Given the description of an element on the screen output the (x, y) to click on. 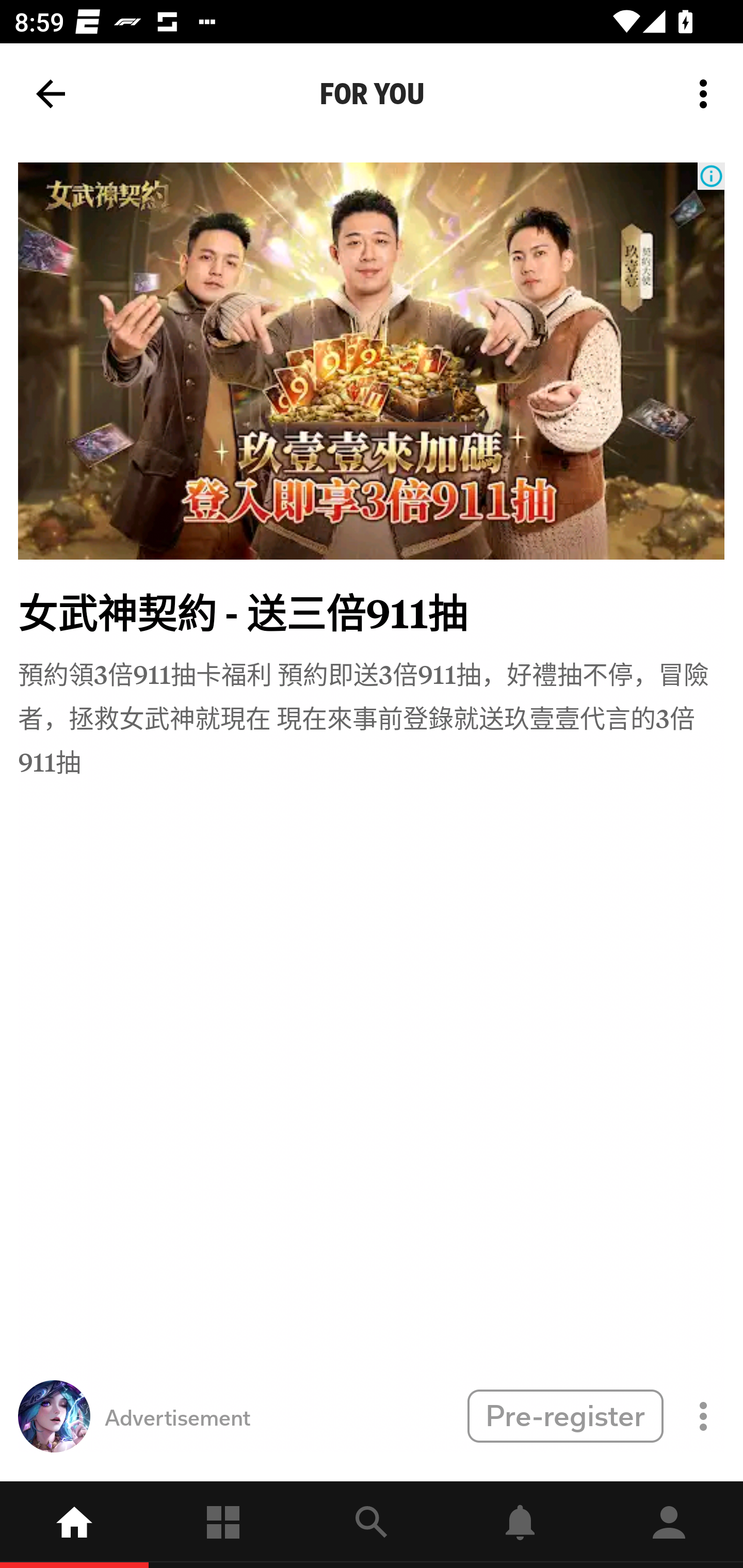
Back (50, 93)
Back (50, 93)
FOR YOU (371, 93)
FOR YOU (371, 93)
More options (706, 93)
Ad Choices Icon (711, 176)
Pre-register (565, 1415)
home (74, 1524)
Following (222, 1524)
explore (371, 1524)
Notifications (519, 1524)
Profile (668, 1524)
